Given the description of an element on the screen output the (x, y) to click on. 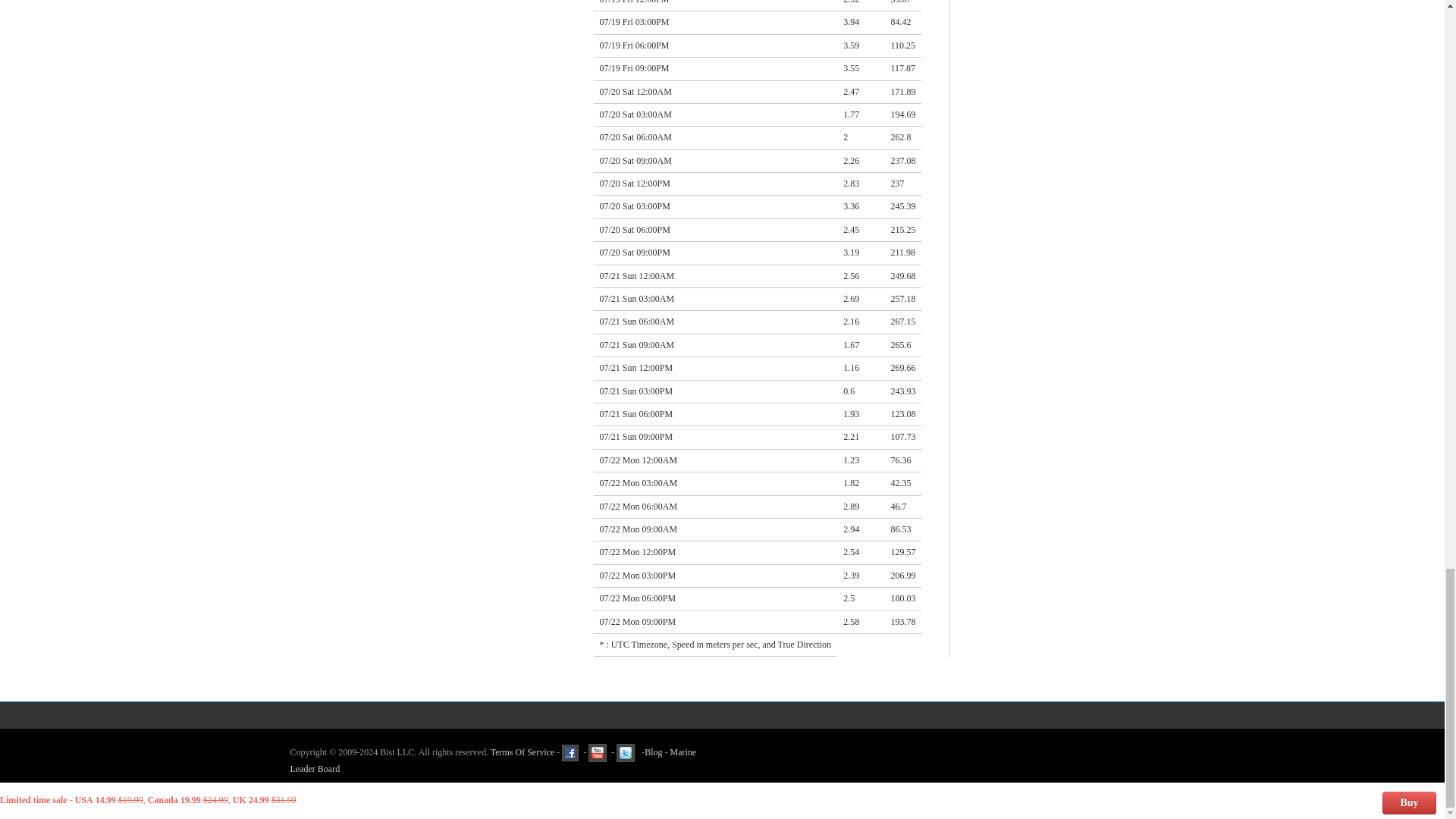
Visit GPS Nautical Charts Patrol on YouTube (597, 751)
